Given the description of an element on the screen output the (x, y) to click on. 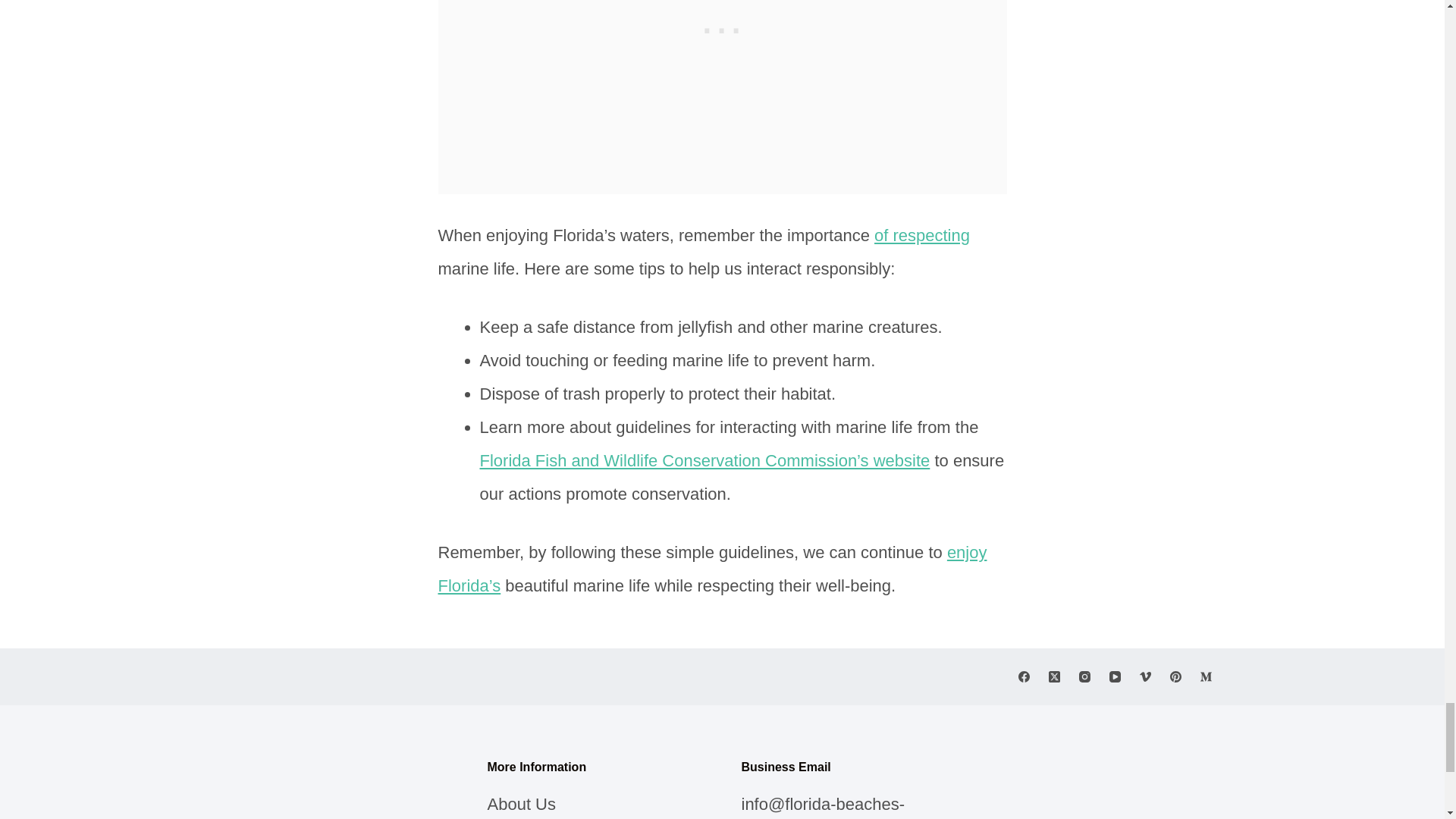
About Us (521, 804)
of respecting (922, 235)
